Given the description of an element on the screen output the (x, y) to click on. 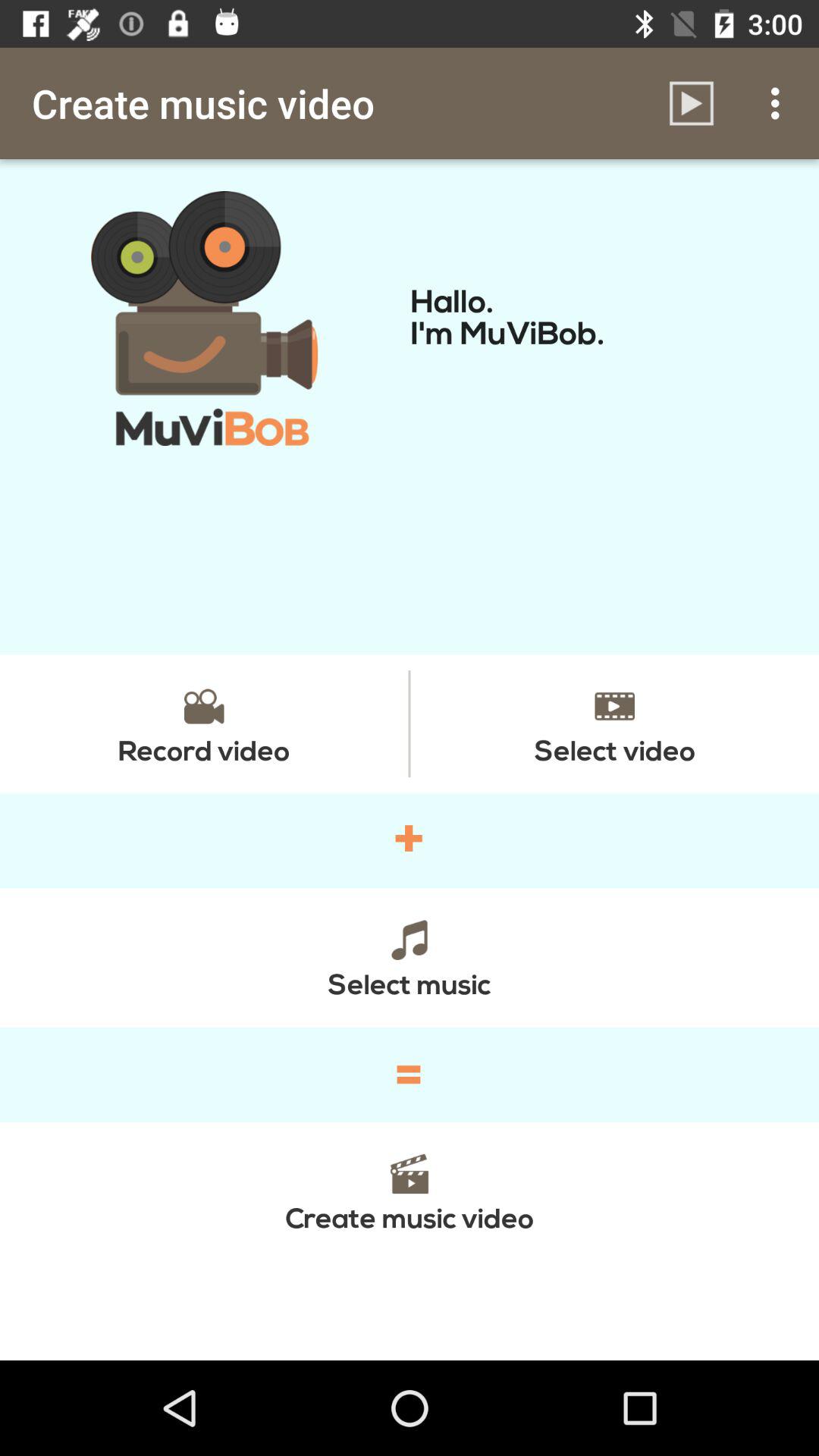
choose icon to the right of create music video item (691, 103)
